Given the description of an element on the screen output the (x, y) to click on. 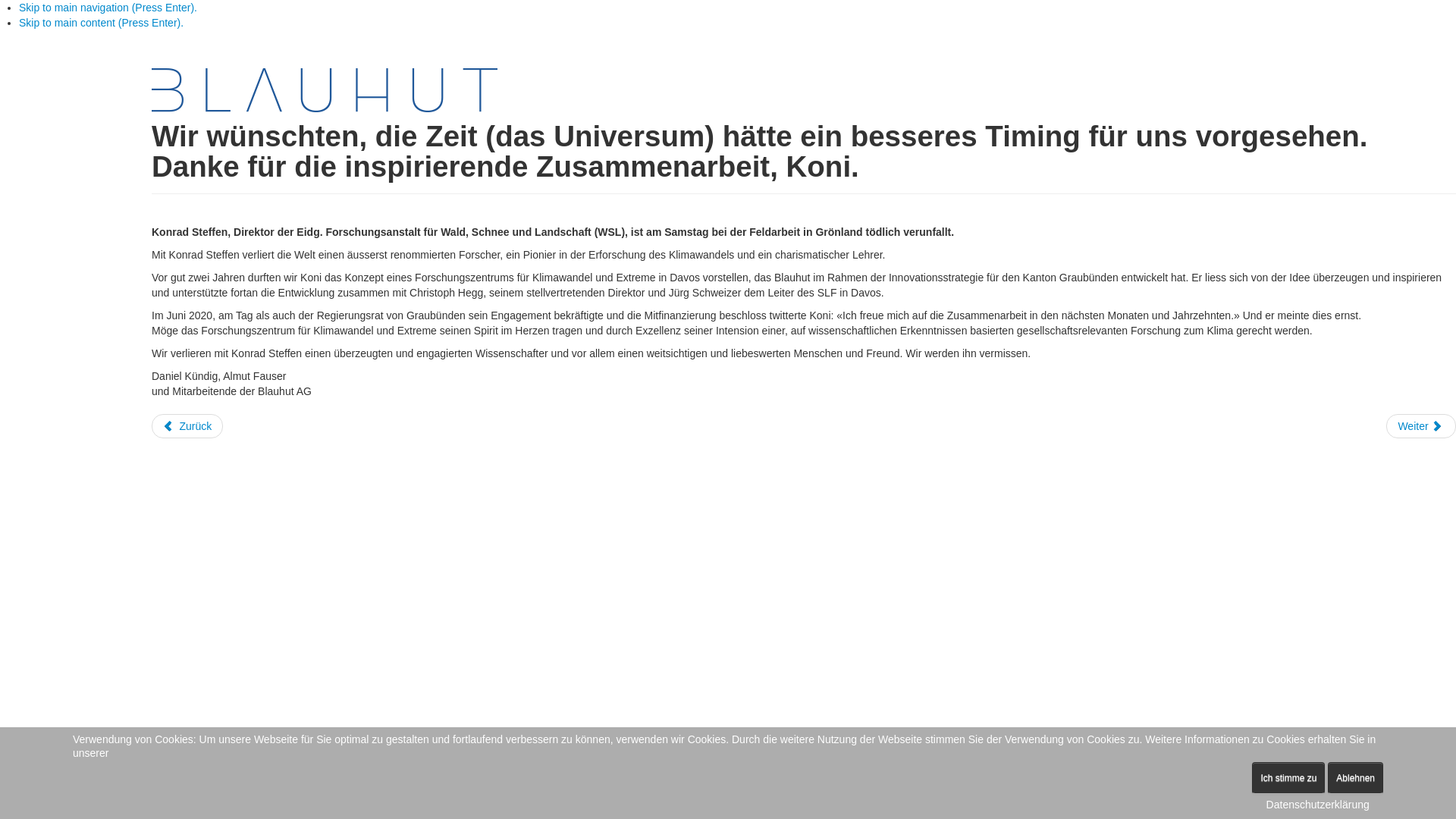
Ablehnen Element type: text (1355, 777)
Ich stimme zu Element type: text (1288, 777)
Skip to main navigation (Press Enter). Element type: text (107, 7)
Skip to main content (Press Enter). Element type: text (100, 22)
